Given the description of an element on the screen output the (x, y) to click on. 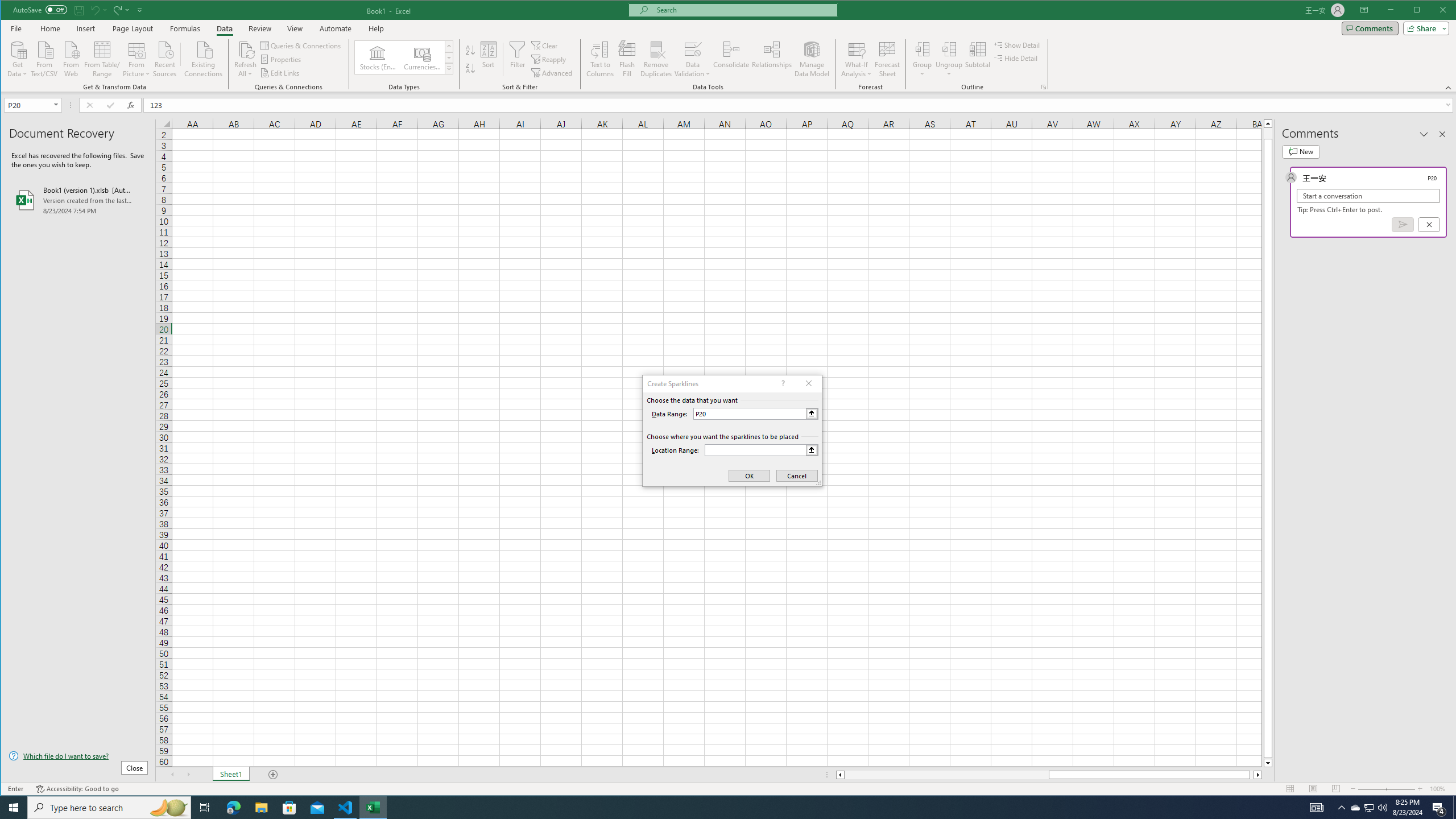
Cancel (1428, 224)
Page up (1267, 132)
